Given the description of an element on the screen output the (x, y) to click on. 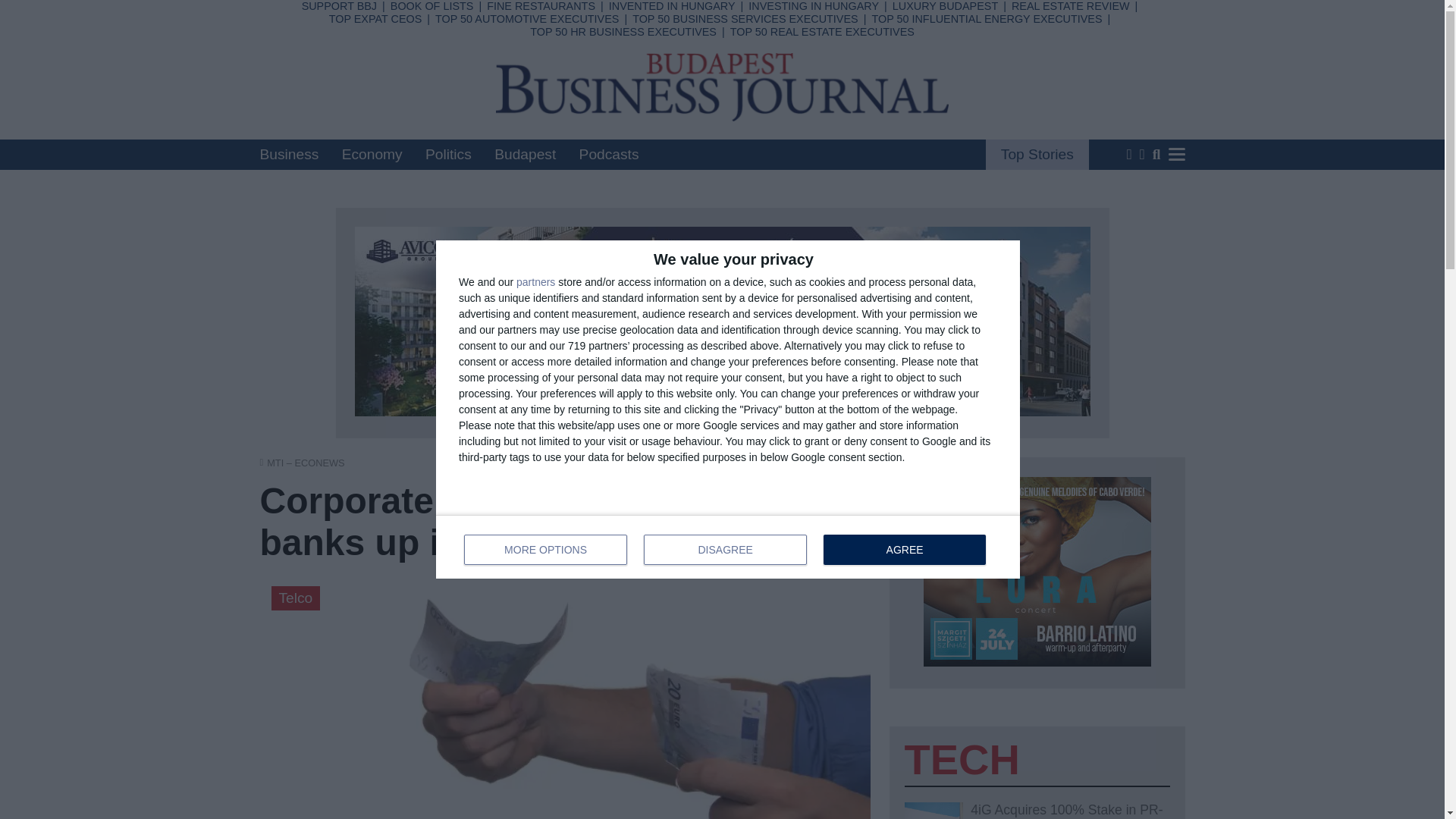
REAL ESTATE REVIEW (1070, 6)
Statistics (651, 33)
AGREE (904, 549)
MORE OPTIONS (545, 549)
Business (537, 13)
Podcasts (609, 154)
Tech (517, 92)
Environment (665, 92)
Agriculture (727, 546)
TOP 50 HR BUSINESS EXECUTIVES (657, 112)
TOP EXPAT CEOS (622, 31)
TOP 50 AUTOMOTIVE EXECUTIVES (375, 19)
Business (526, 19)
LUXURY BUDAPEST (288, 154)
